Given the description of an element on the screen output the (x, y) to click on. 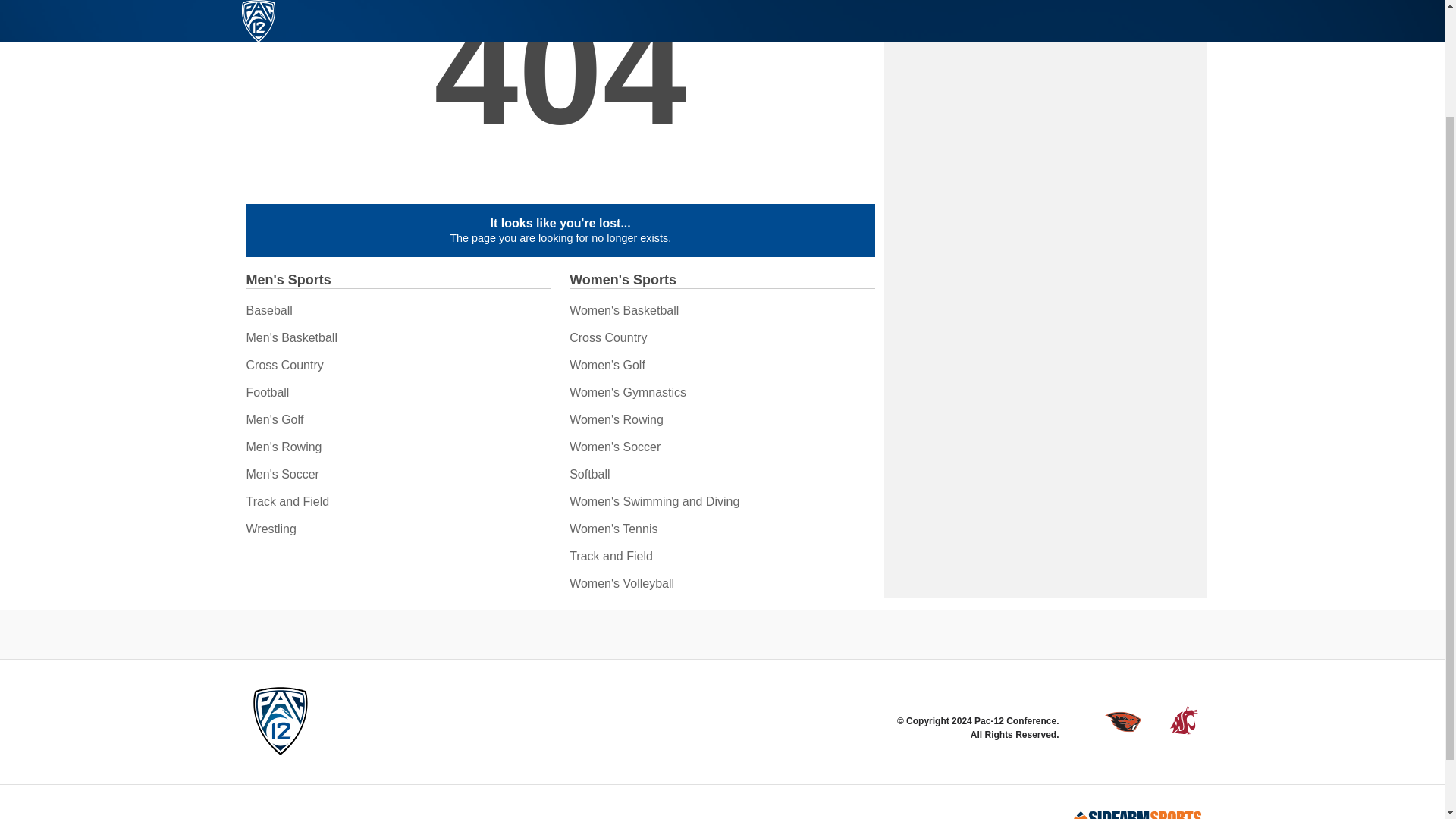
Cross Country (284, 364)
Men's Golf (274, 419)
Baseball (269, 309)
Men's Soccer (282, 473)
Men's Basketball (291, 337)
Track and Field (287, 501)
Football (267, 391)
Men's Rowing (283, 446)
